Given the description of an element on the screen output the (x, y) to click on. 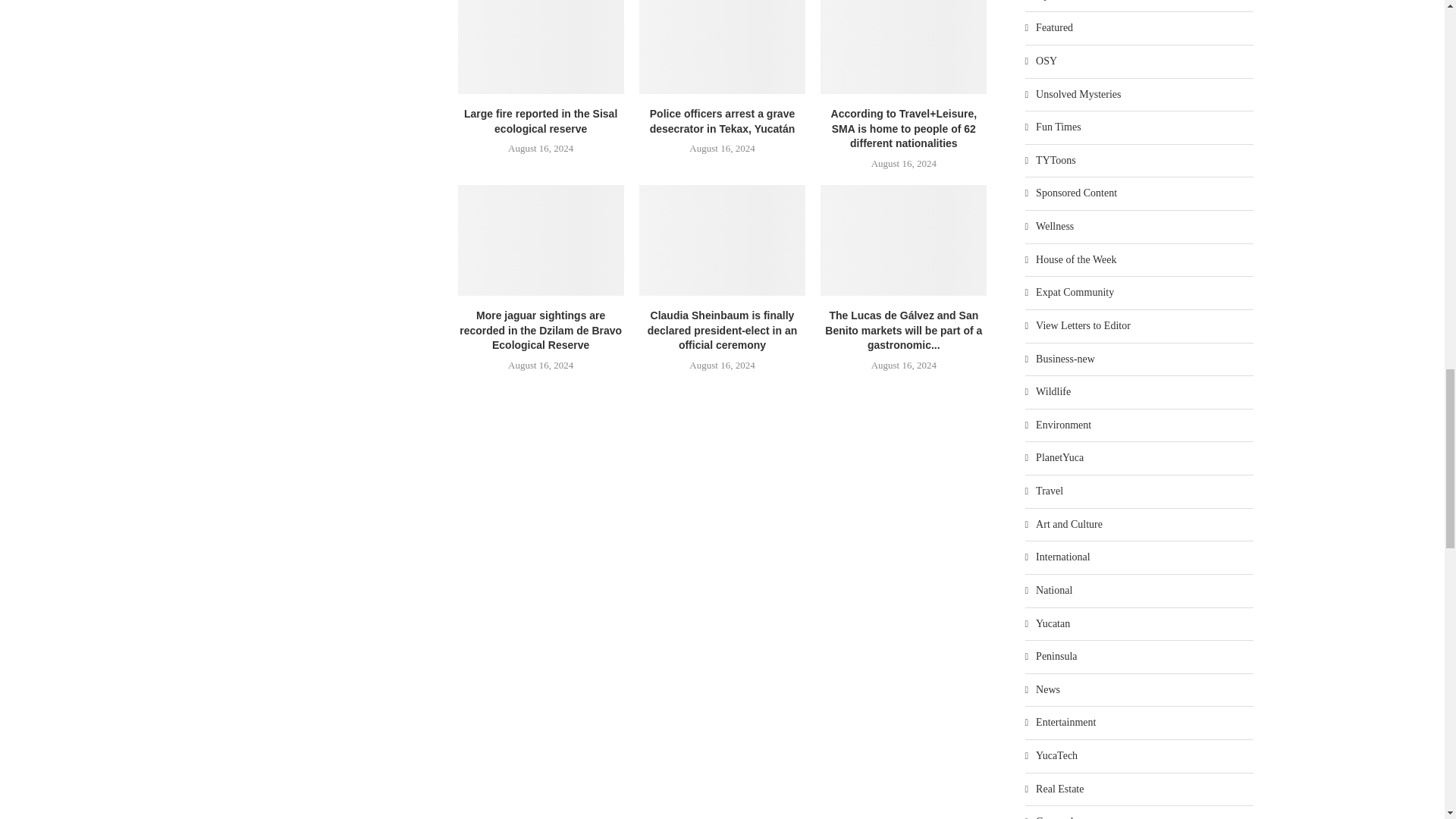
Large fire reported in the Sisal ecological reserve (541, 47)
